Given the description of an element on the screen output the (x, y) to click on. 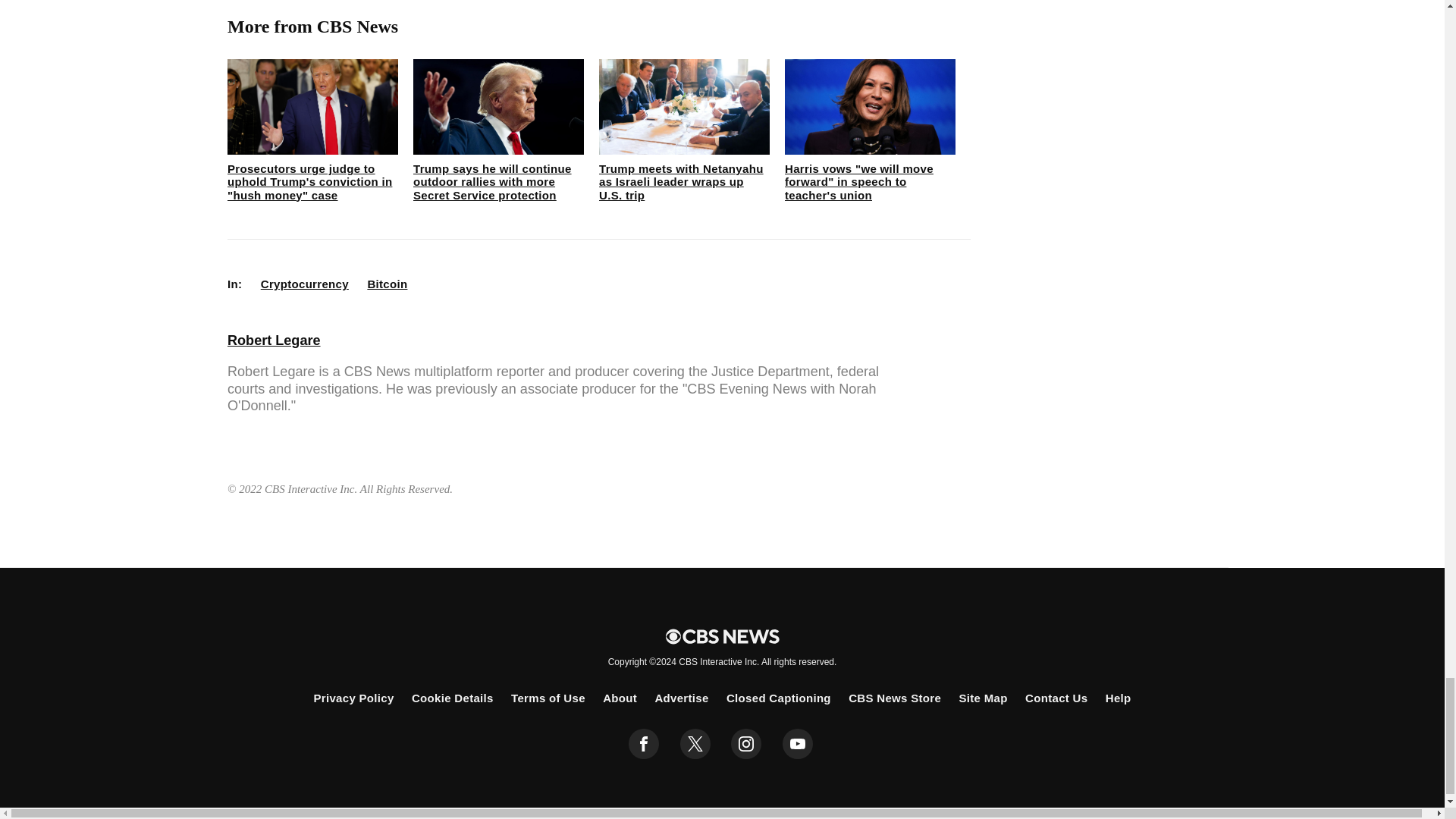
twitter (694, 743)
instagram (745, 743)
youtube (797, 743)
facebook (643, 743)
